Given the description of an element on the screen output the (x, y) to click on. 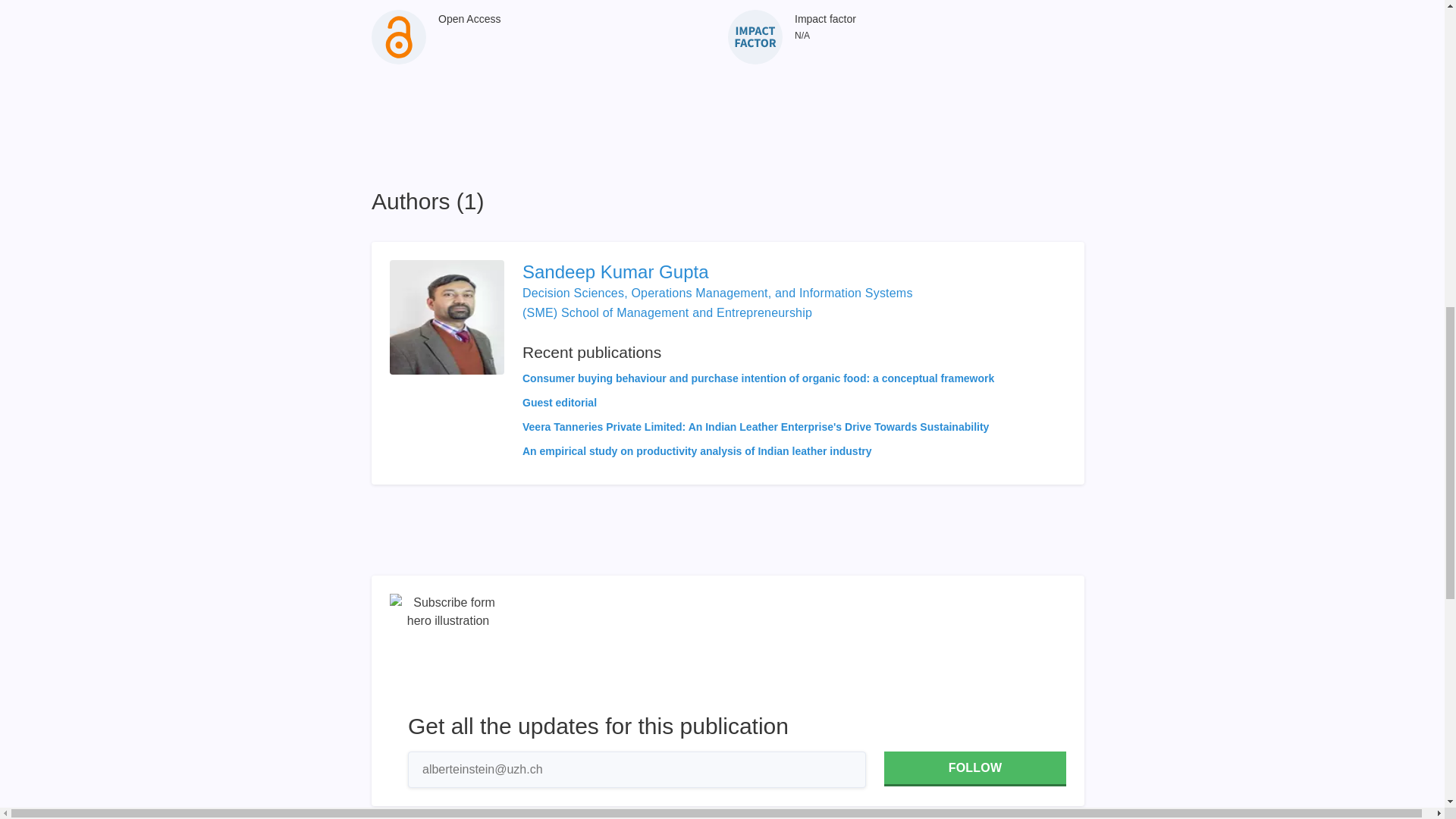
Subscribe form hero illustration (448, 651)
FOLLOW (974, 768)
Sandeep Kumar Gupta (758, 272)
Guest editorial (559, 402)
